Given the description of an element on the screen output the (x, y) to click on. 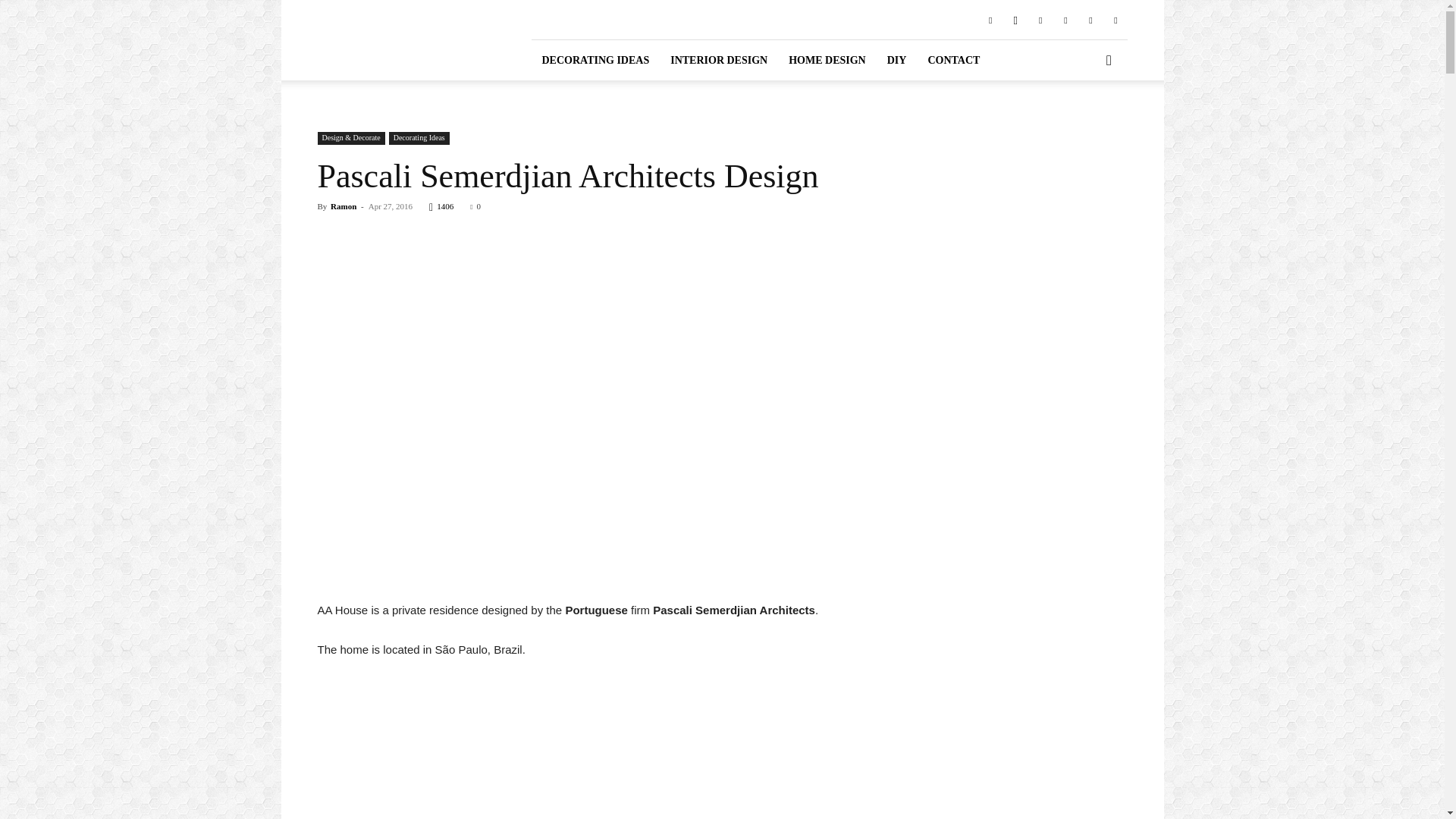
RSS (1065, 19)
Instagram (1015, 19)
0 (475, 205)
WordPress (1114, 19)
Facebook (989, 19)
Pinterest (1040, 19)
Search (1085, 122)
DECORATING IDEAS (595, 60)
DIY (896, 60)
HOME DESIGN (826, 60)
CONTACT (953, 60)
Twitter (1090, 19)
INTERIOR DESIGN (718, 60)
Decorating Ideas (418, 137)
Ramon (343, 205)
